Given the description of an element on the screen output the (x, y) to click on. 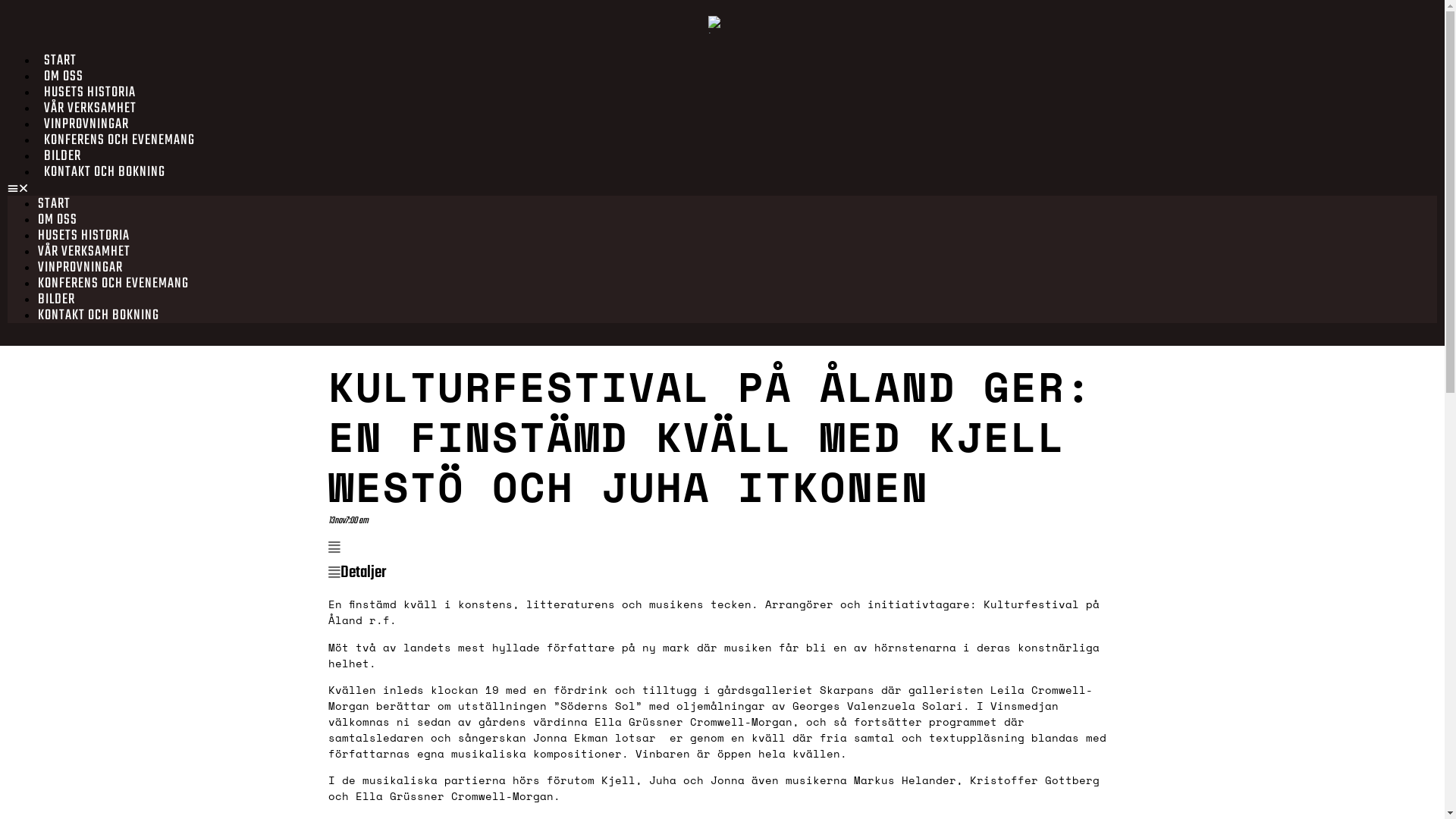
START Element type: text (59, 60)
13nov7:00 am Element type: text (360, 518)
VINPROVNINGAR Element type: text (85, 123)
BILDER Element type: text (56, 299)
KONTAKT OCH BOKNING Element type: text (98, 315)
OM OSS Element type: text (57, 219)
KONFERENS OCH EVENEMANG Element type: text (118, 139)
KONTAKT OCH BOKNING Element type: text (104, 171)
VINPROVNINGAR Element type: text (79, 267)
HUSETS HISTORIA Element type: text (83, 235)
KONFERENS OCH EVENEMANG Element type: text (112, 283)
HUSETS HISTORIA Element type: text (89, 92)
START Element type: text (53, 203)
OM OSS Element type: text (63, 76)
BILDER Element type: text (62, 155)
